Given the description of an element on the screen output the (x, y) to click on. 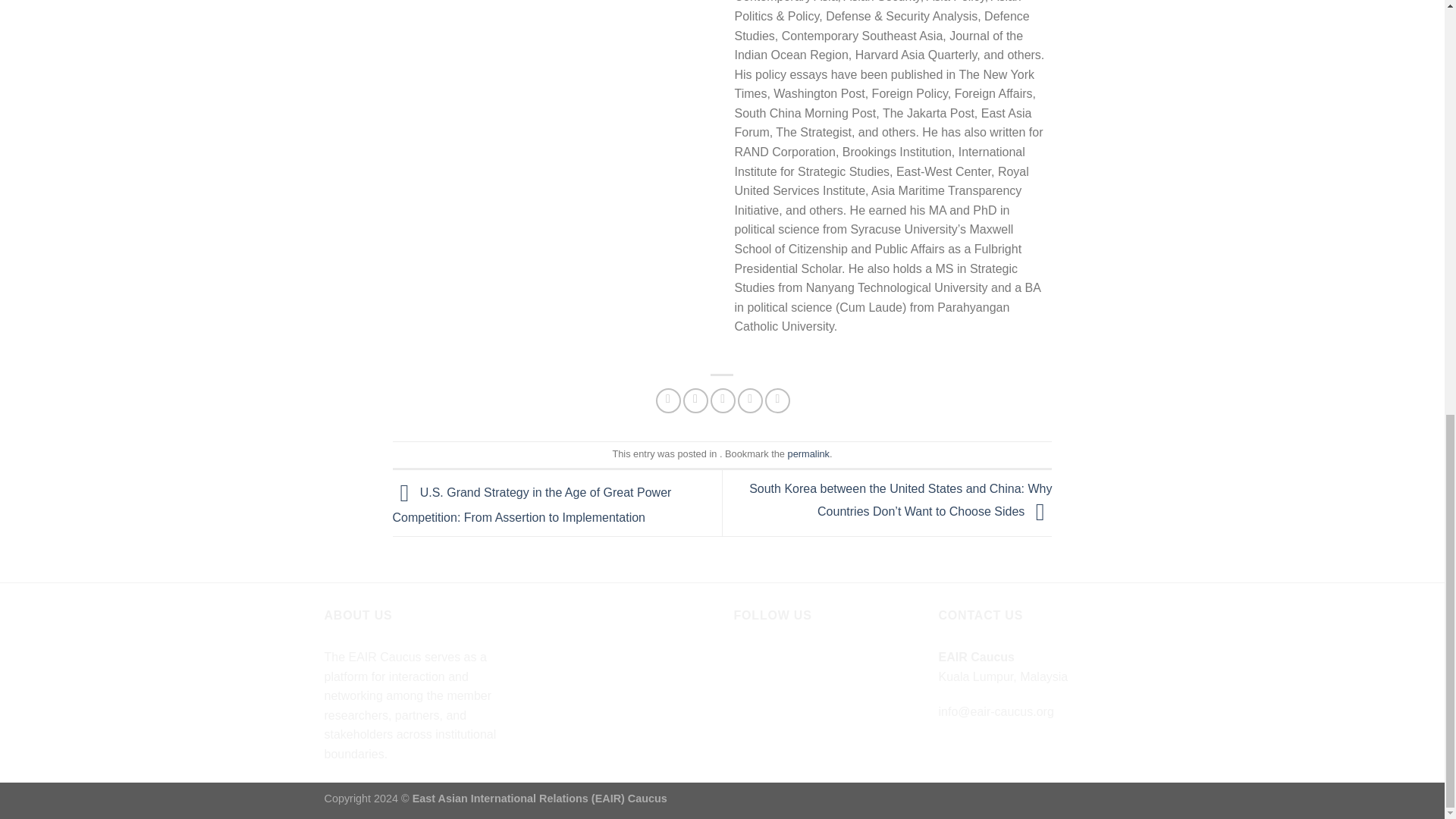
Share on Twitter (694, 400)
Follow on YouTube (801, 659)
Email to a Friend (722, 400)
Share on LinkedIn (777, 400)
Share on Facebook (668, 400)
Follow on Facebook (747, 659)
Pin on Pinterest (750, 400)
Send us an email (774, 659)
